Given the description of an element on the screen output the (x, y) to click on. 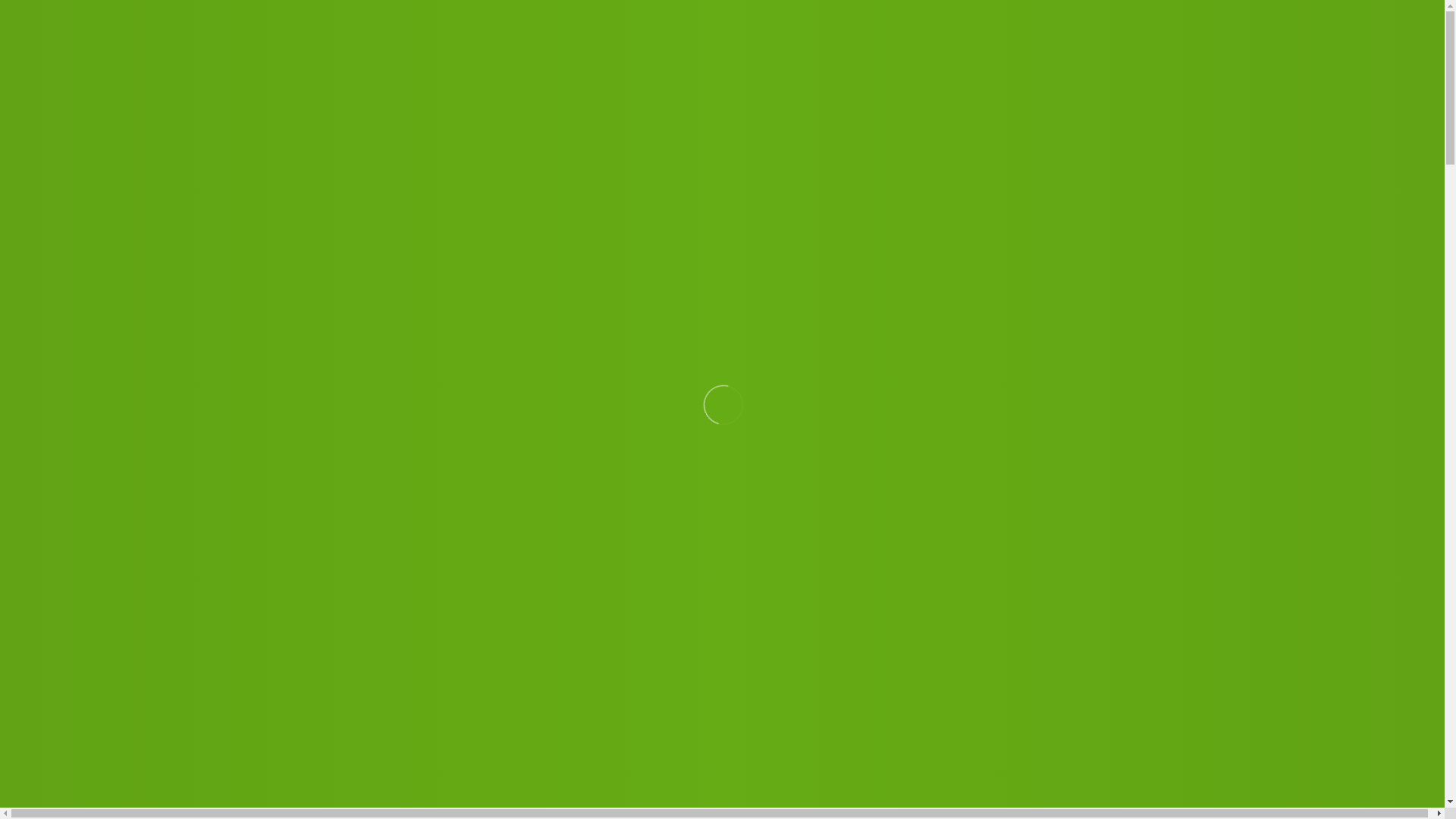
SERVICING Element type: text (990, 160)
STIHL Element type: text (563, 160)
TOGGLE NAVIGATION MENU Element type: text (767, 105)
ABOUT Element type: text (1162, 160)
USED Element type: text (901, 160)
NEWS Element type: text (1081, 160)
HOME Element type: text (75, 160)
HONDA Element type: text (252, 160)
ALL PRODUCTS Element type: text (799, 160)
CONTACT Element type: text (1252, 160)
